Given the description of an element on the screen output the (x, y) to click on. 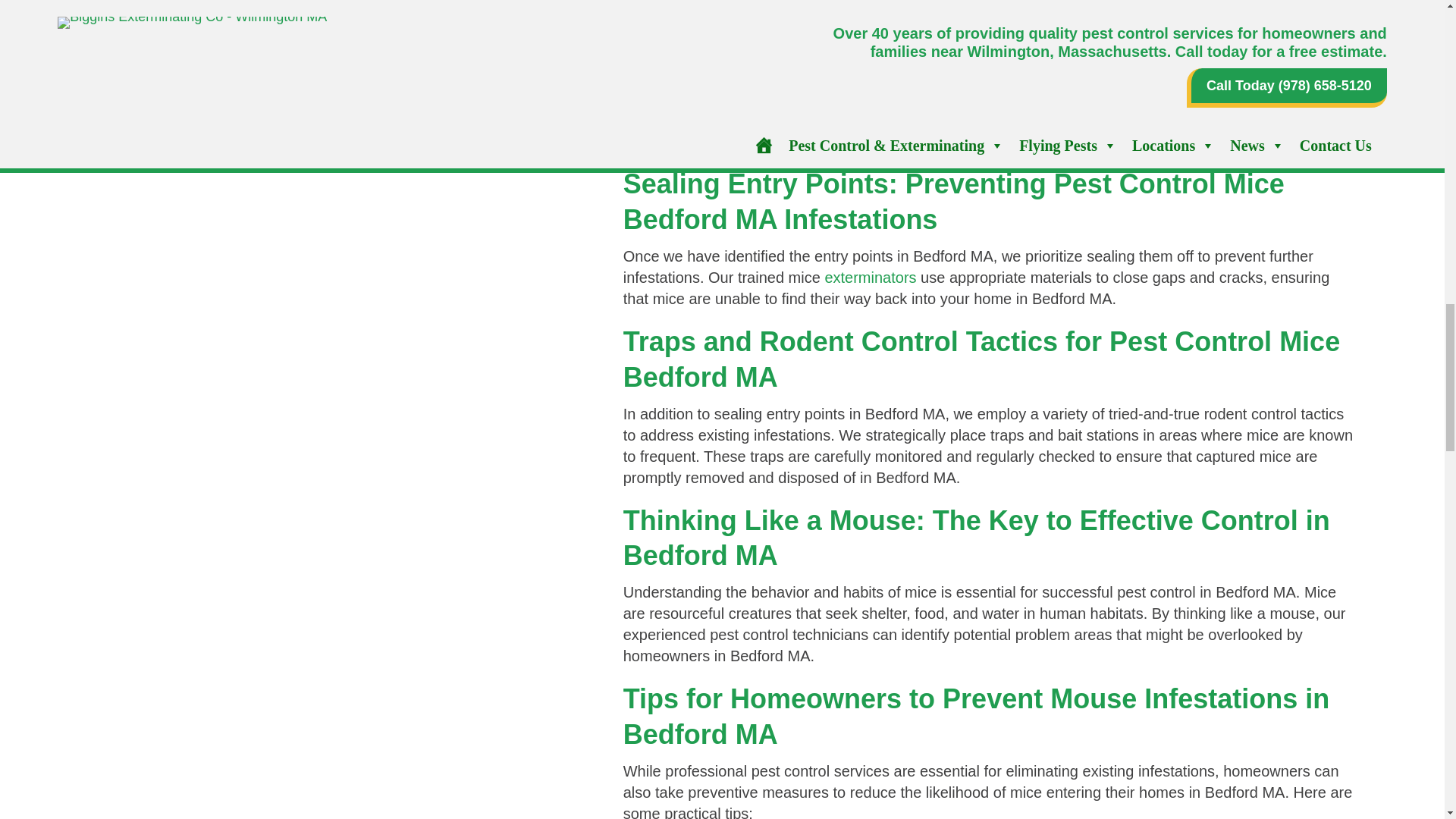
Exterminators (869, 277)
